Given the description of an element on the screen output the (x, y) to click on. 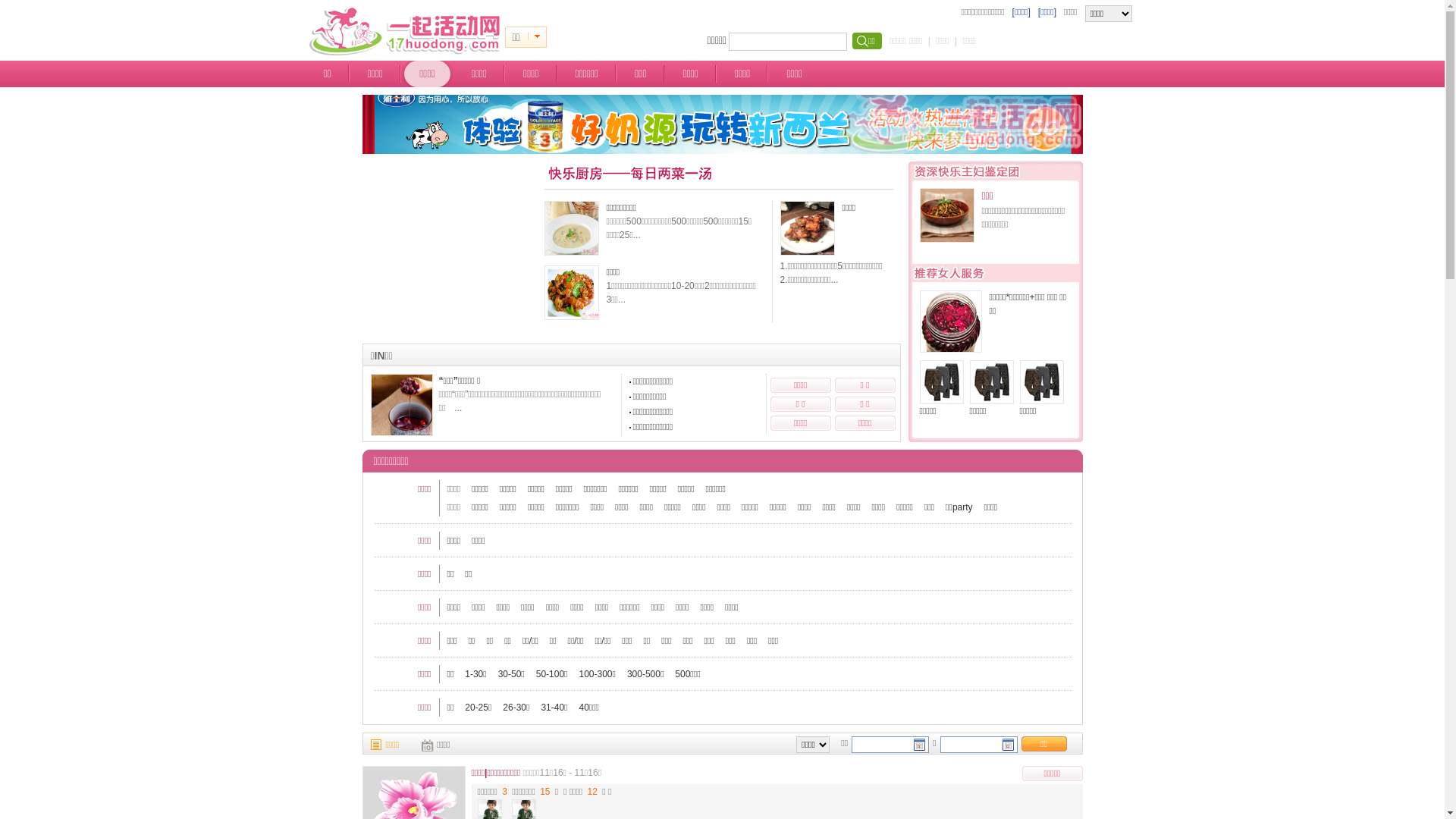
0 Element type: text (536, 36)
